Given the description of an element on the screen output the (x, y) to click on. 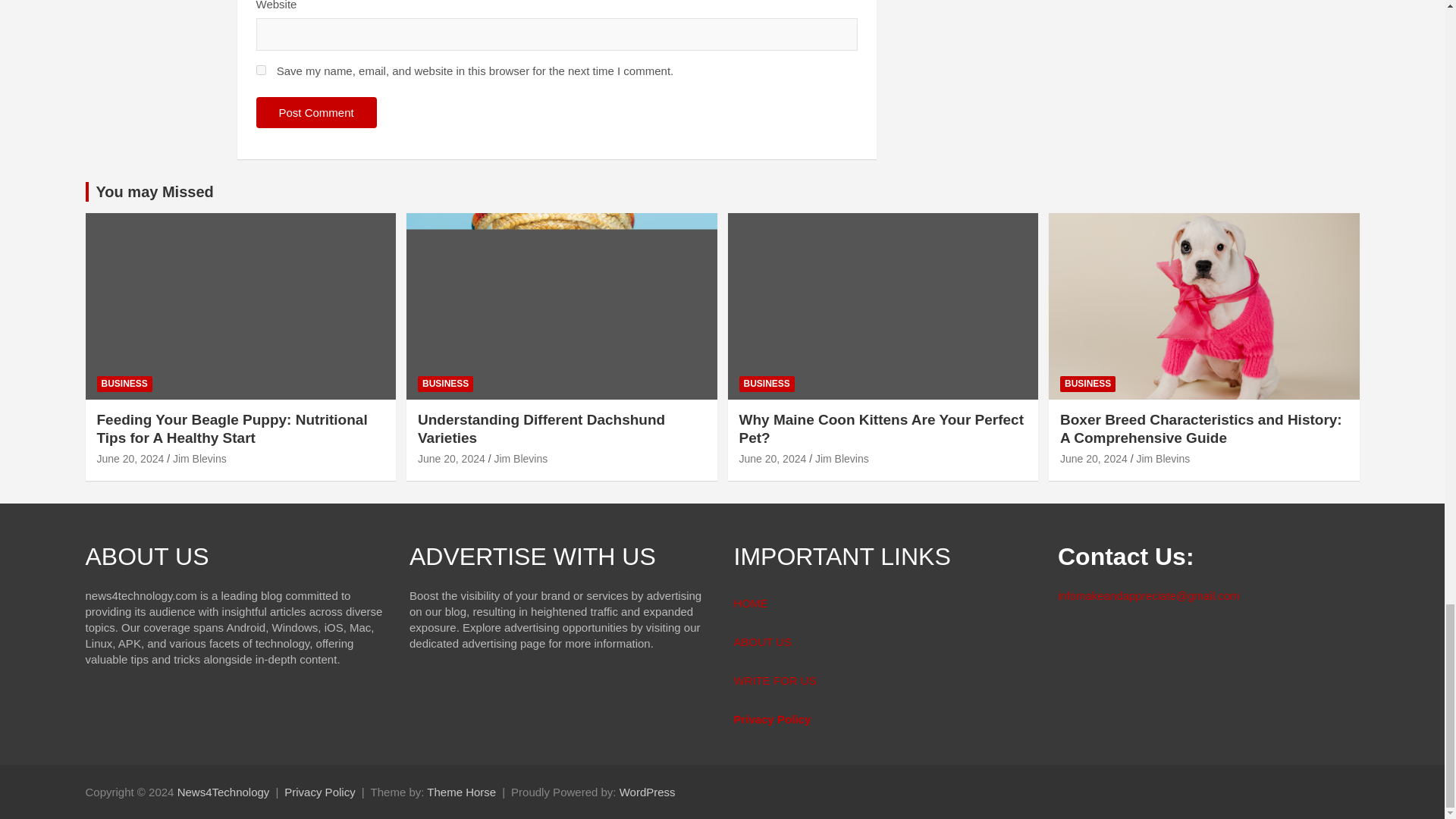
yes (261, 70)
Theme Horse (461, 791)
Post Comment (316, 112)
Why Maine Coon Kittens Are Your Perfect Pet? (772, 458)
Post Comment (316, 112)
News4Technology (223, 791)
Understanding Different Dachshund Varieties (450, 458)
WordPress (647, 791)
